Given the description of an element on the screen output the (x, y) to click on. 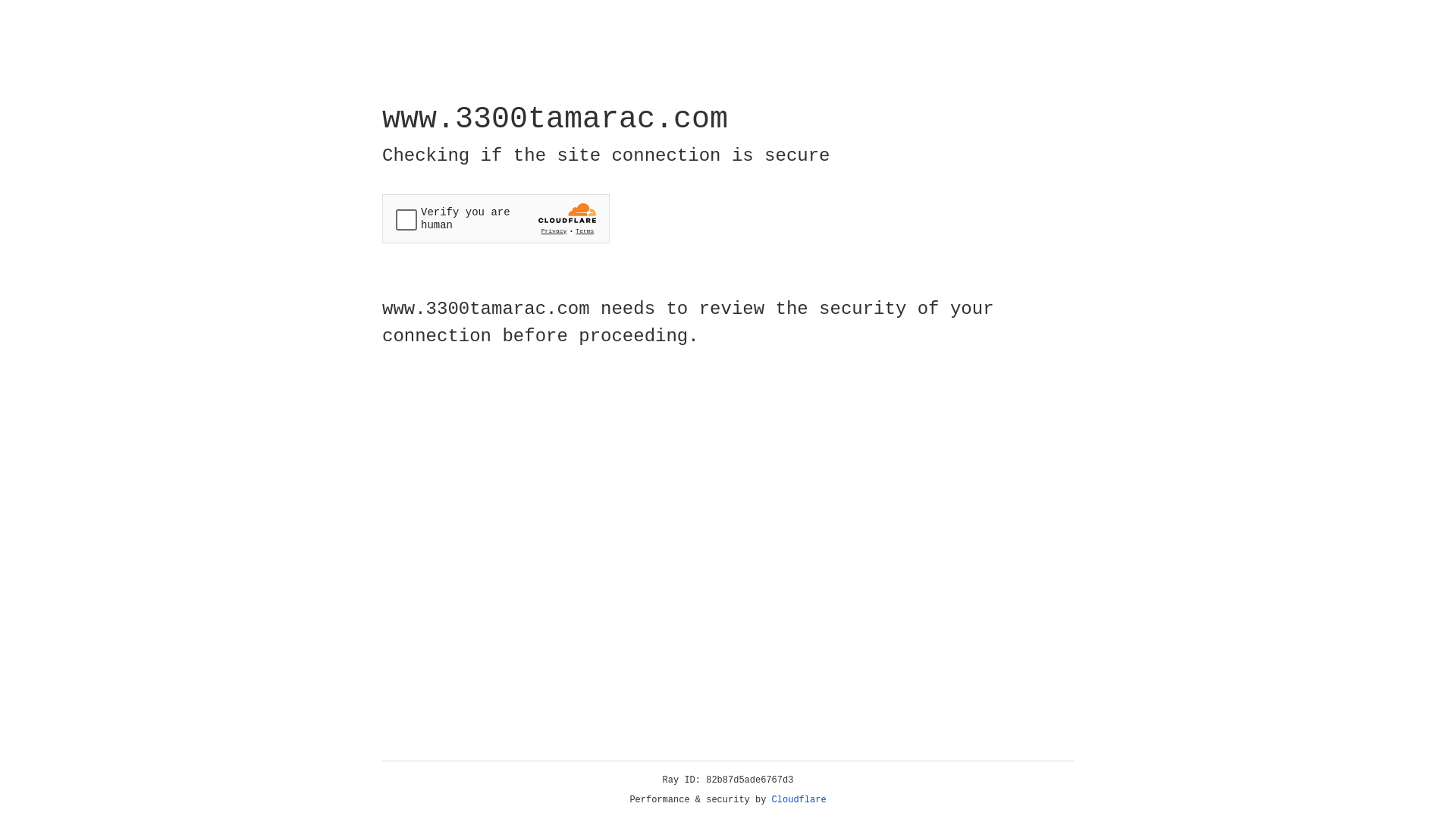
Widget containing a Cloudflare security challenge Element type: hover (495, 218)
Cloudflare Element type: text (798, 799)
